Given the description of an element on the screen output the (x, y) to click on. 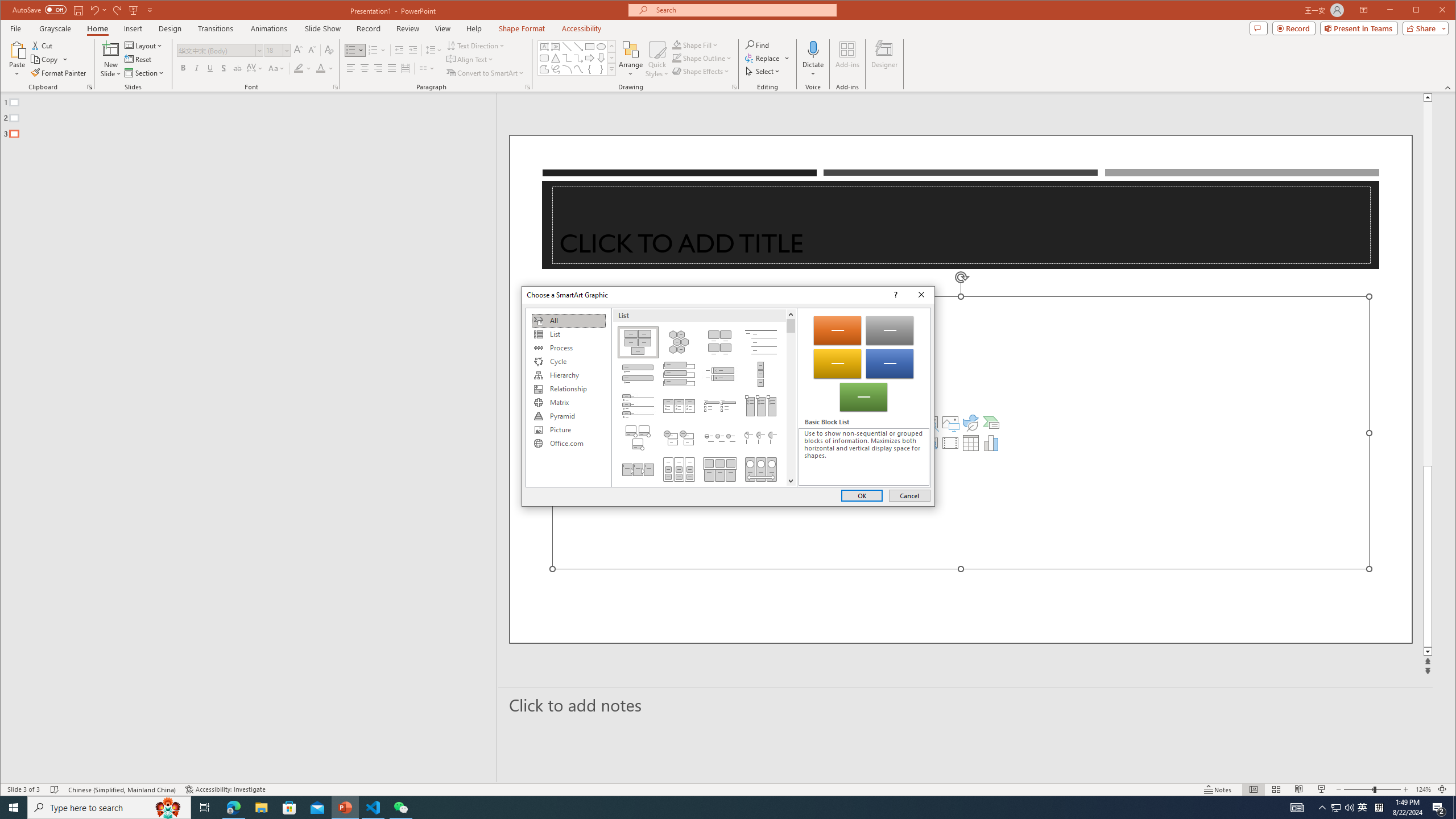
Microsoft Edge - 1 running window (233, 807)
Insert Chart (991, 443)
Bullets (355, 49)
Shape Outline (702, 57)
Numbering (376, 49)
Increase Indent (412, 49)
Visual Studio Code - 1 running window (373, 807)
Horizontal Bullet List (678, 405)
WeChat - 1 running window (400, 807)
Insert a SmartArt Graphic (991, 422)
Page down (790, 403)
Accessibility Checker Accessibility: Investigate (225, 789)
Dictate (812, 59)
